Given the description of an element on the screen output the (x, y) to click on. 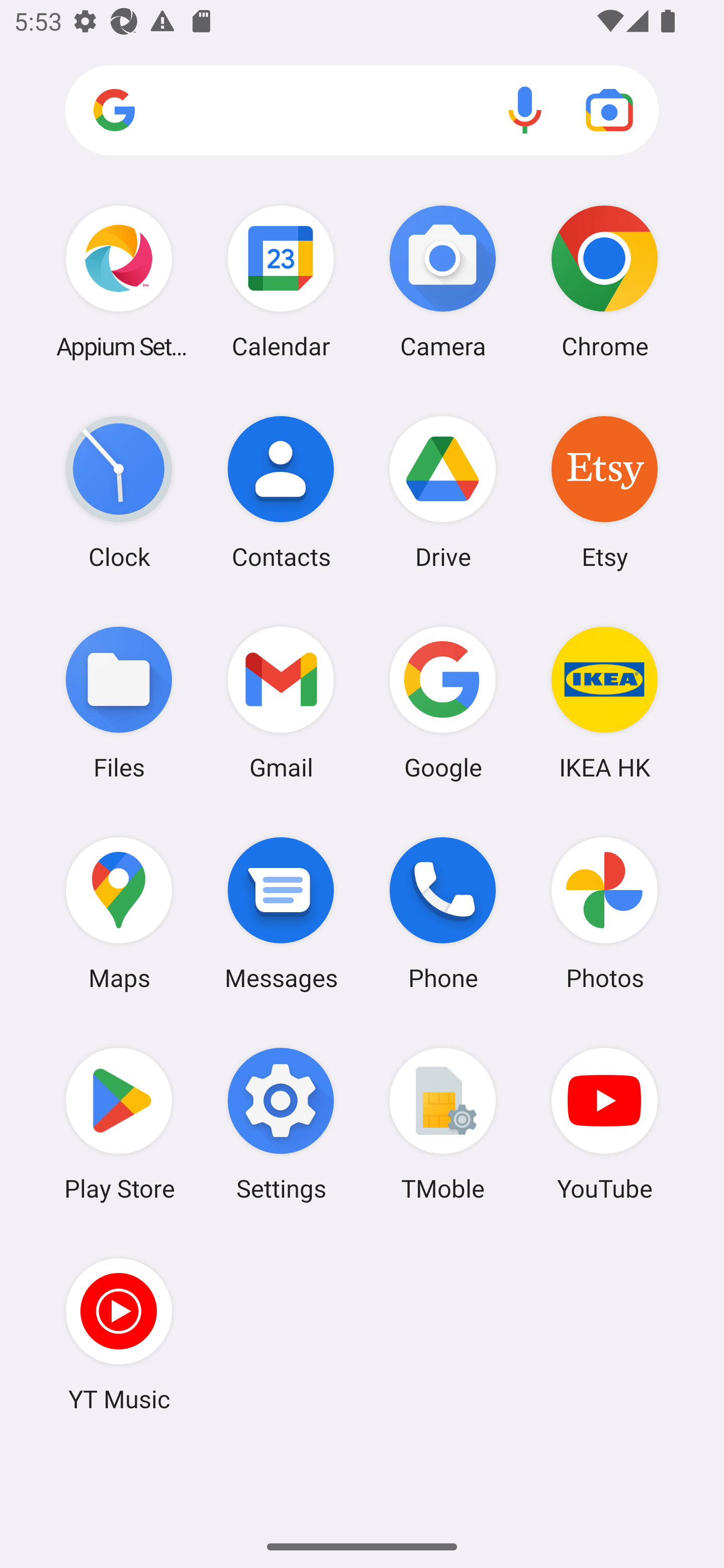
Search apps, web and more (361, 110)
Voice search (524, 109)
Google Lens (608, 109)
Appium Settings (118, 281)
Calendar (280, 281)
Camera (443, 281)
Chrome (604, 281)
Clock (118, 492)
Contacts (280, 492)
Drive (443, 492)
Etsy (604, 492)
Files (118, 702)
Gmail (280, 702)
Google (443, 702)
IKEA HK (604, 702)
Maps (118, 913)
Messages (280, 913)
Phone (443, 913)
Photos (604, 913)
Play Store (118, 1124)
Settings (280, 1124)
TMoble (443, 1124)
YouTube (604, 1124)
YT Music (118, 1334)
